Given the description of an element on the screen output the (x, y) to click on. 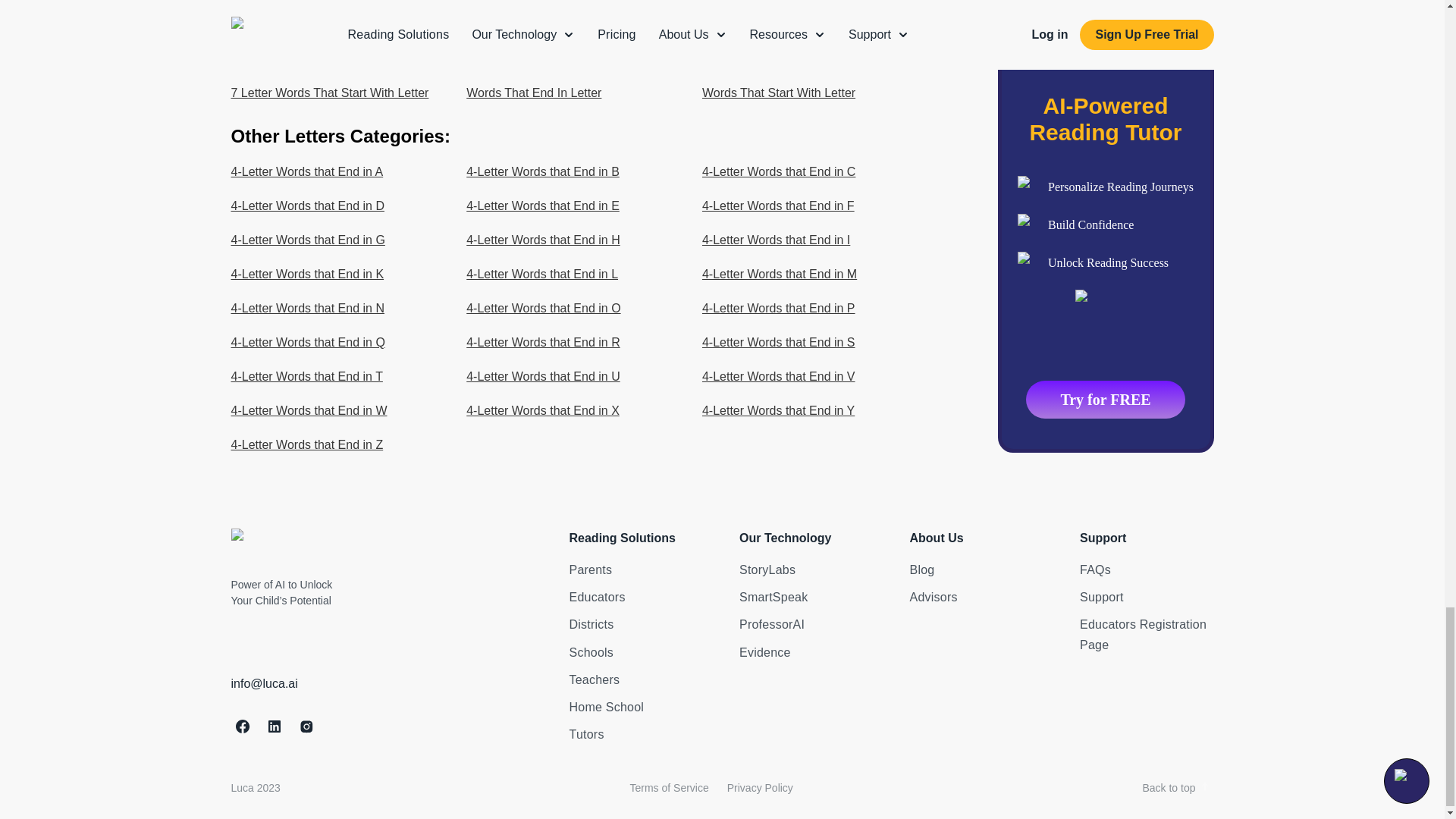
6 Letter Words That Start With Letter (573, 58)
7 Letter Words That End In Letter (809, 58)
4 Letter Words That Start With Letter (338, 24)
5 Letter Words That End In Letter (573, 24)
5 Letter Words That Start With Letter (809, 24)
6 Letter Words That End In Letter (338, 58)
